Given the description of an element on the screen output the (x, y) to click on. 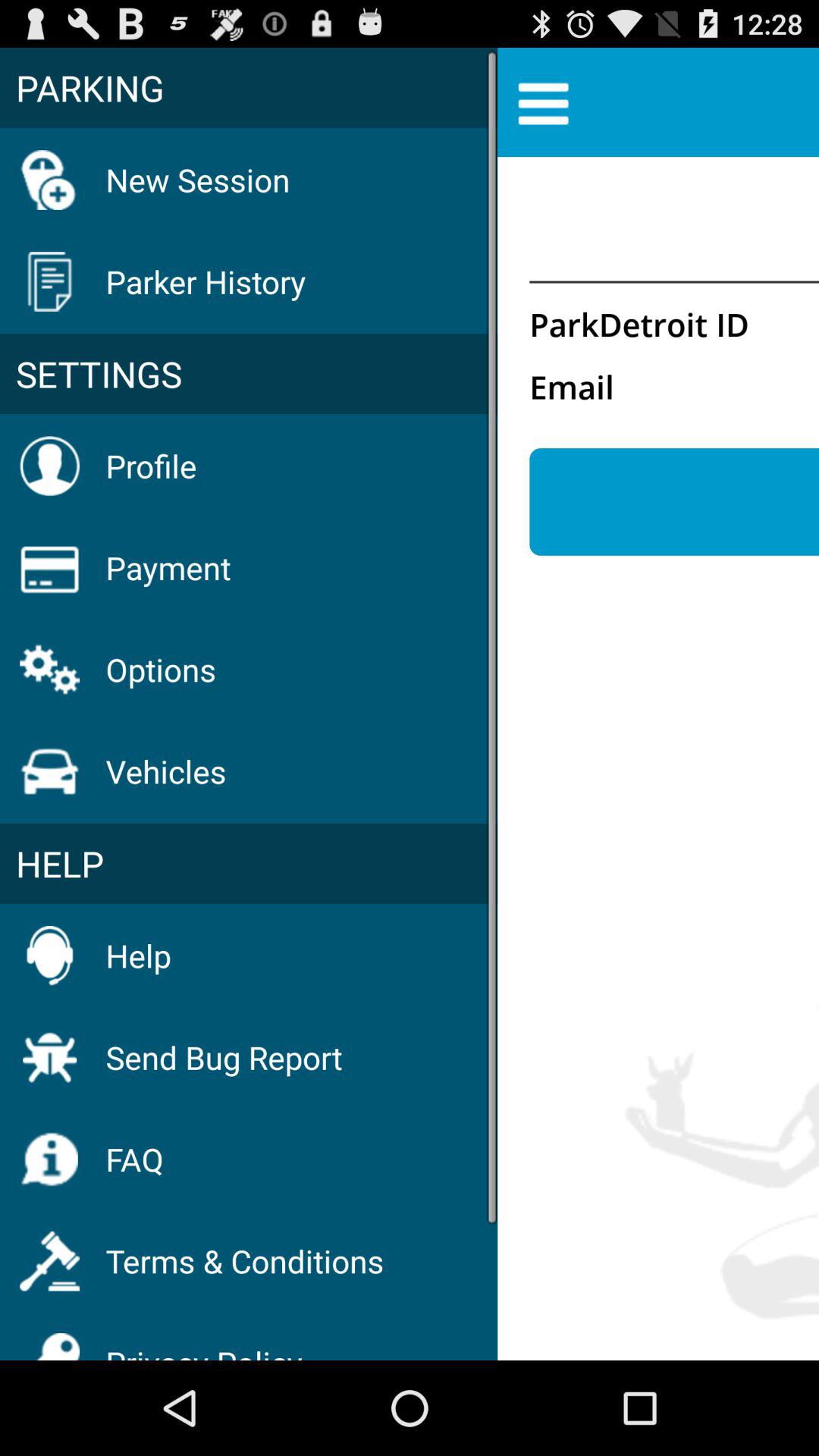
turn on icon below the help item (223, 1056)
